Given the description of an element on the screen output the (x, y) to click on. 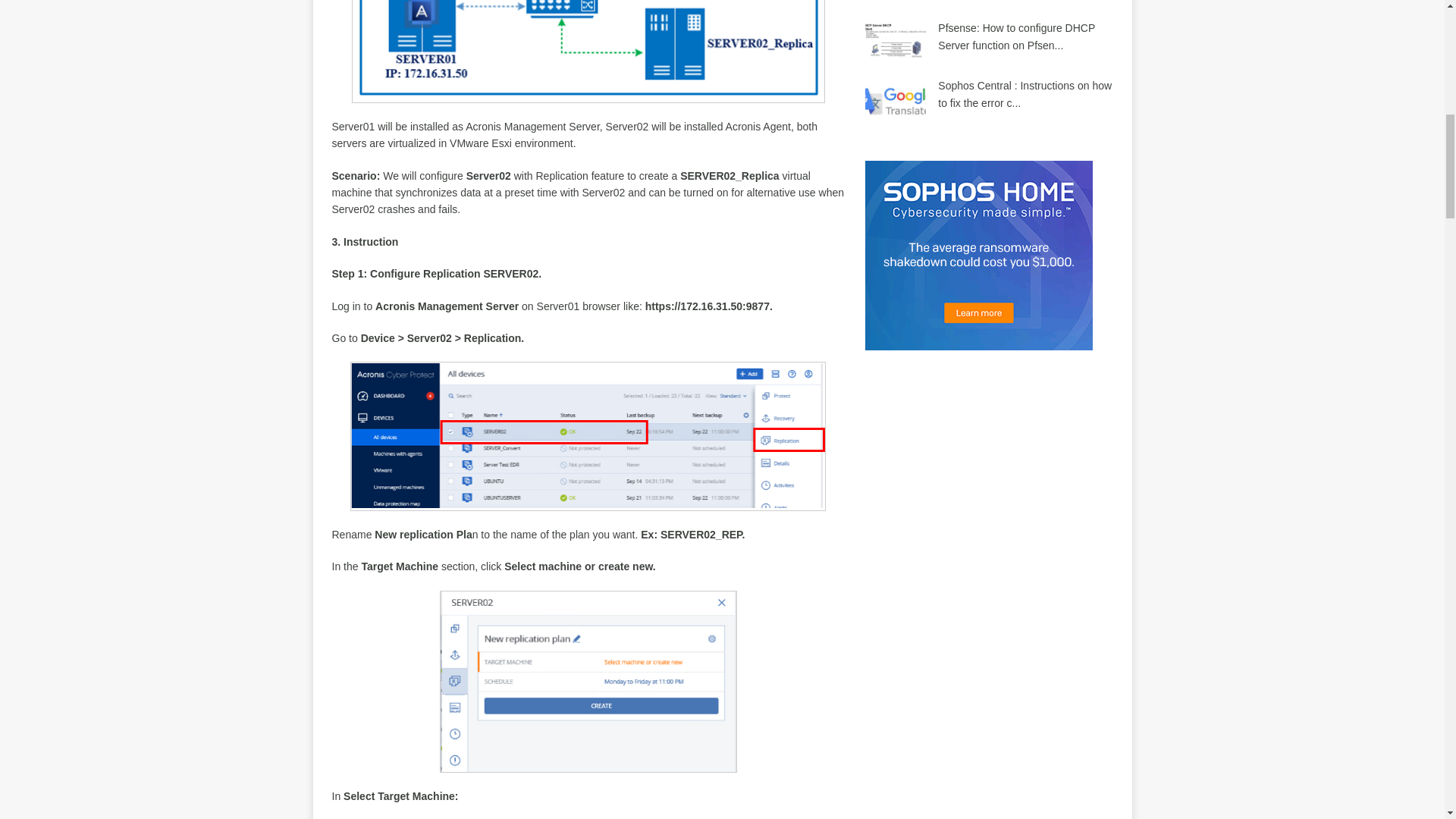
Pfsense: How to configure DHCP Server function on Pfsense (1015, 36)
